Given the description of an element on the screen output the (x, y) to click on. 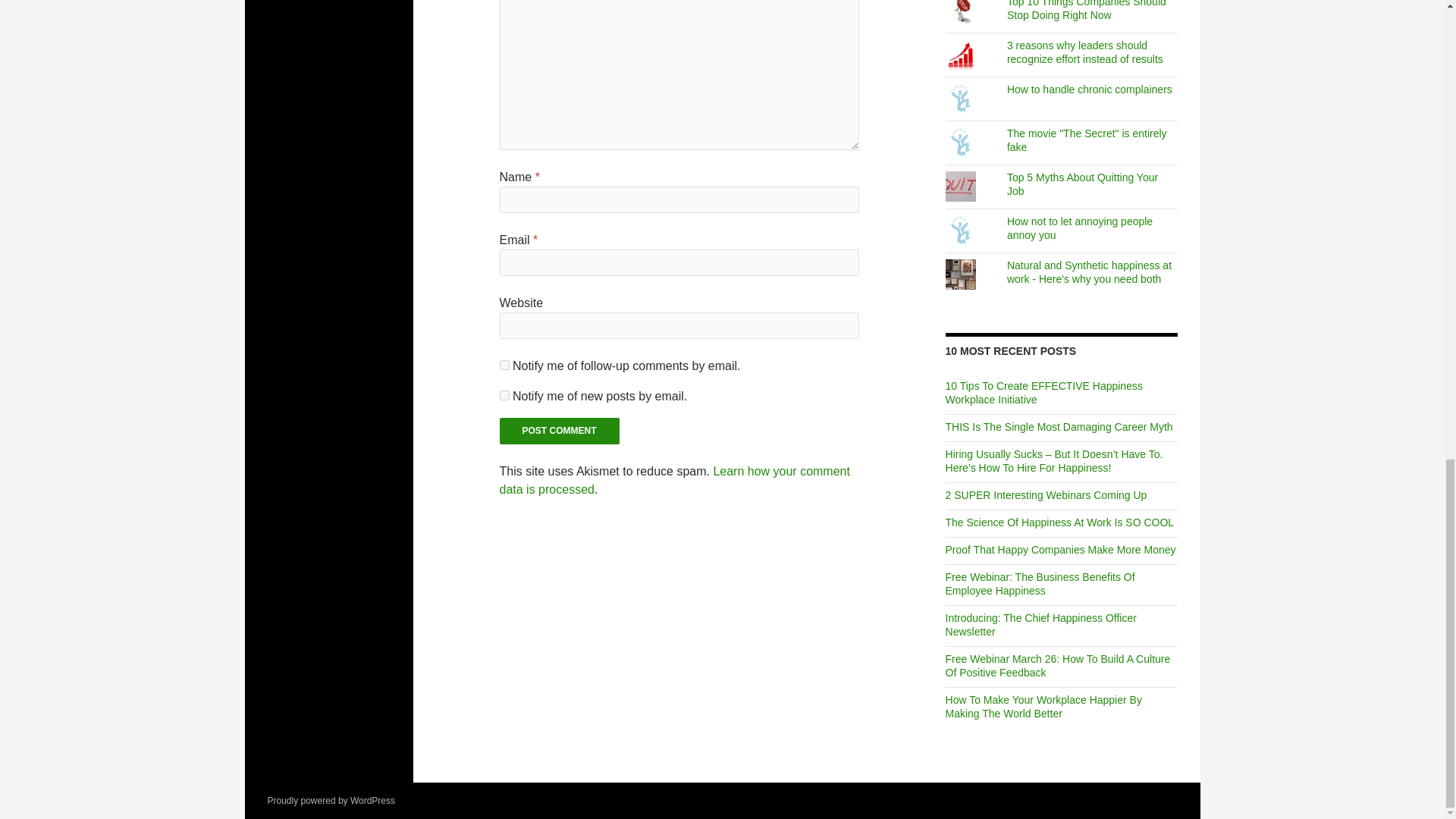
subscribe (504, 395)
Learn how your comment data is processed (674, 480)
subscribe (504, 365)
Post Comment (559, 430)
Post Comment (559, 430)
